Given the description of an element on the screen output the (x, y) to click on. 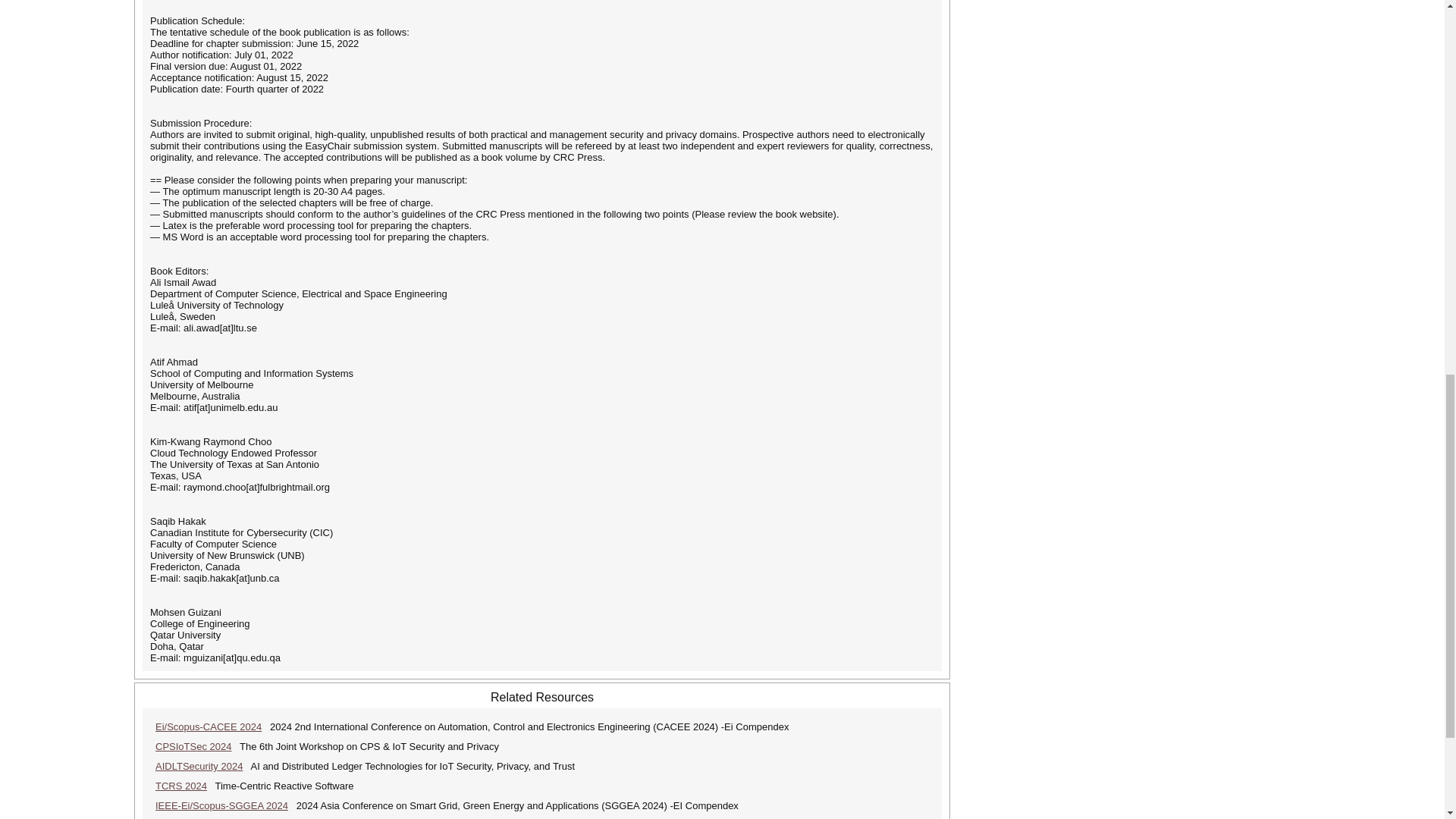
CPSIoTSec 2024 (193, 746)
